Given the description of an element on the screen output the (x, y) to click on. 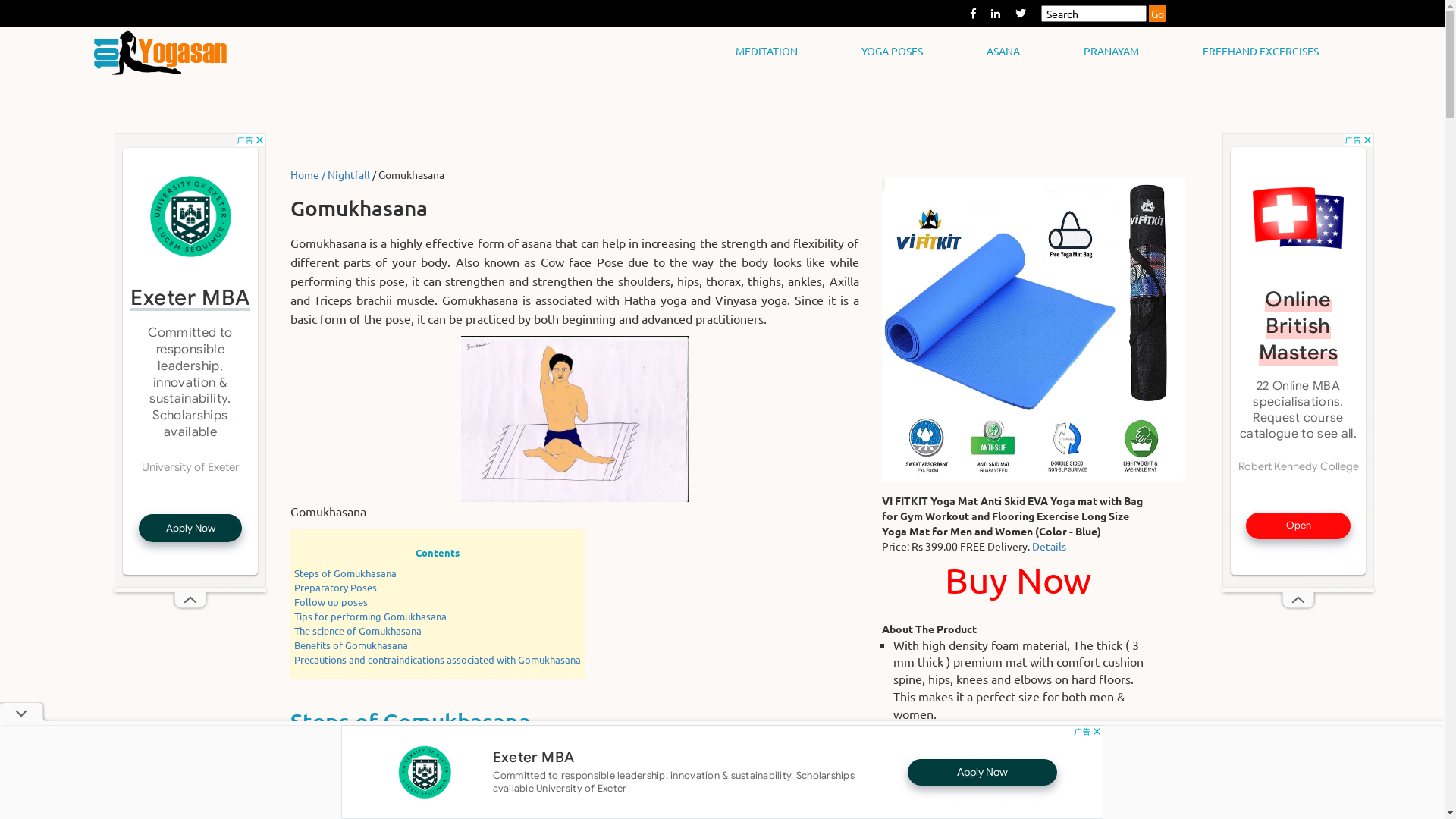
The science of Gomukhasana Element type: text (357, 630)
PRANAYAM Element type: text (1110, 50)
Advertisement Element type: hover (1298, 360)
Steps of Gomukhasana Element type: text (345, 572)
Follow up poses Element type: text (330, 601)
FREEHAND EXCERCISES Element type: text (1260, 50)
ASANA Element type: text (1002, 50)
Benefits of Gomukhasana Element type: text (350, 644)
Nightfall Element type: text (348, 174)
Details Element type: text (1048, 545)
Tips for performing Gomukhasana Element type: text (370, 615)
Home / Element type: text (307, 174)
Advertisement Element type: hover (190, 360)
Go Element type: text (1156, 13)
MEDITATION Element type: text (766, 50)
YOGA POSES Element type: text (891, 50)
Preparatory Poses Element type: text (335, 586)
Buy Now Element type: text (1017, 589)
